Given the description of an element on the screen output the (x, y) to click on. 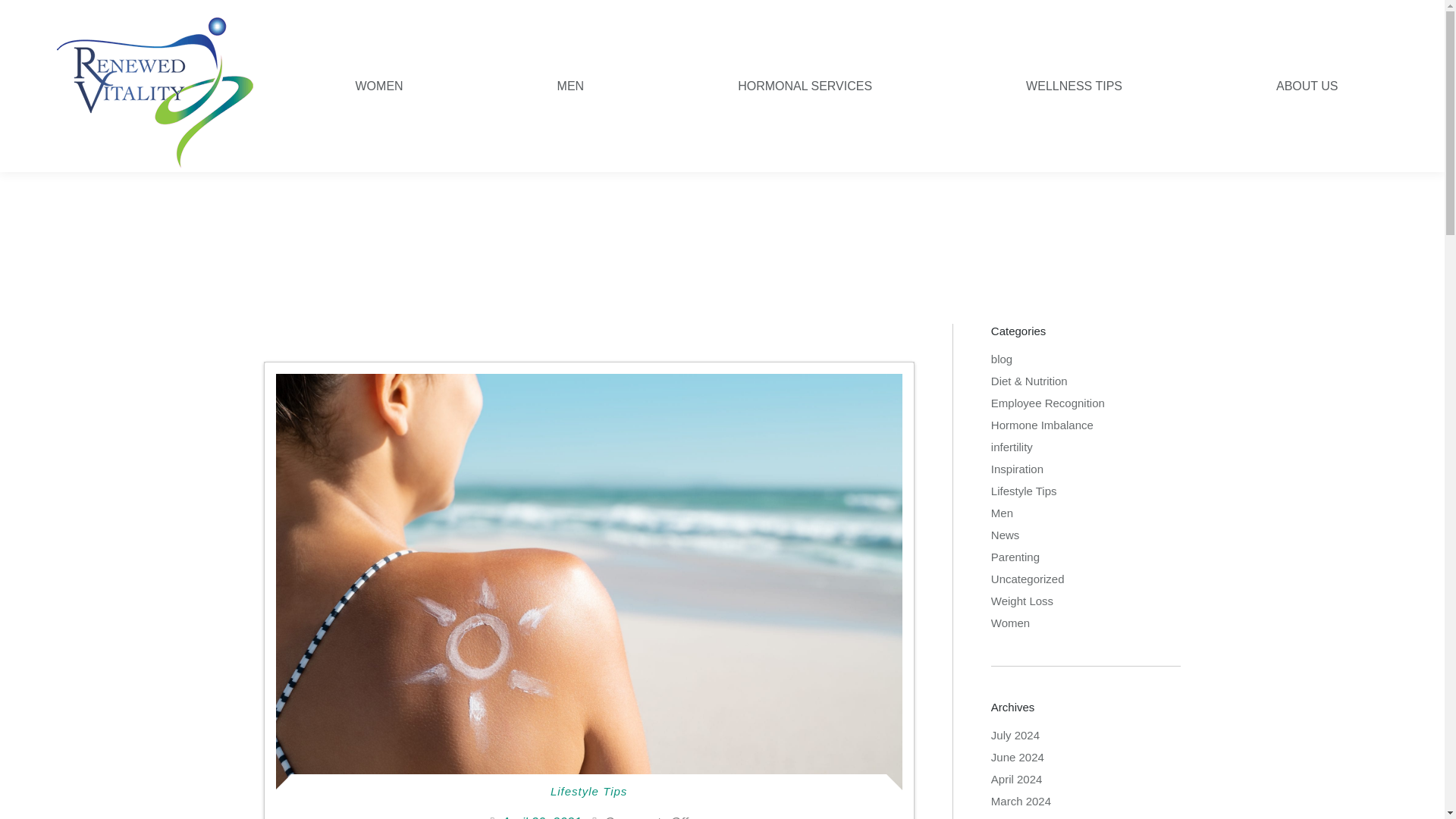
MEN (570, 85)
WOMEN (378, 85)
HORMONAL SERVICES (805, 85)
ABOUT US (1306, 85)
WELLNESS TIPS (1074, 85)
